Given the description of an element on the screen output the (x, y) to click on. 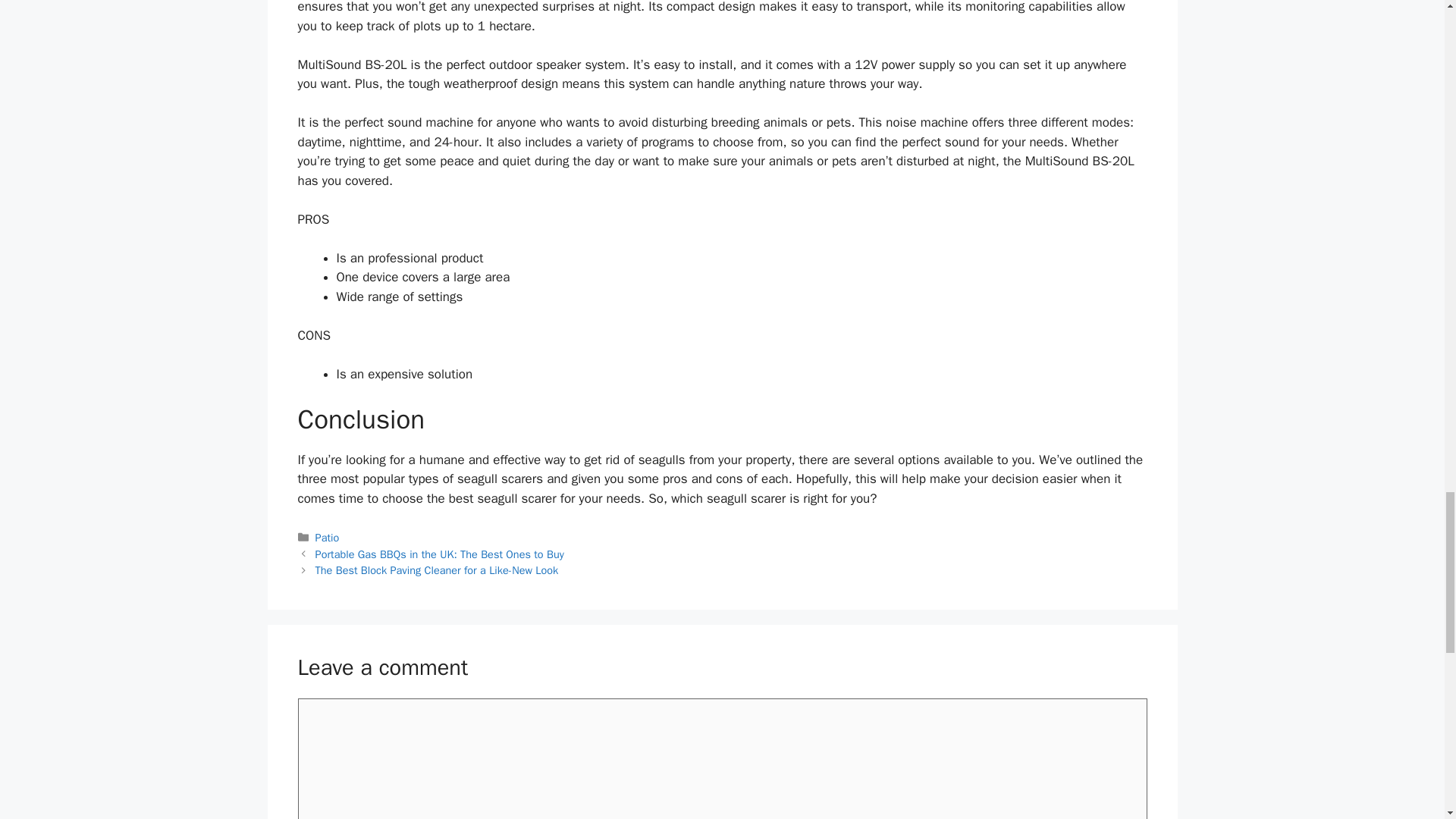
Portable Gas BBQs in the UK: The Best Ones to Buy (439, 554)
Next (437, 570)
The Best Block Paving Cleaner for a Like-New Look (437, 570)
Previous (439, 554)
Patio (327, 537)
